Given the description of an element on the screen output the (x, y) to click on. 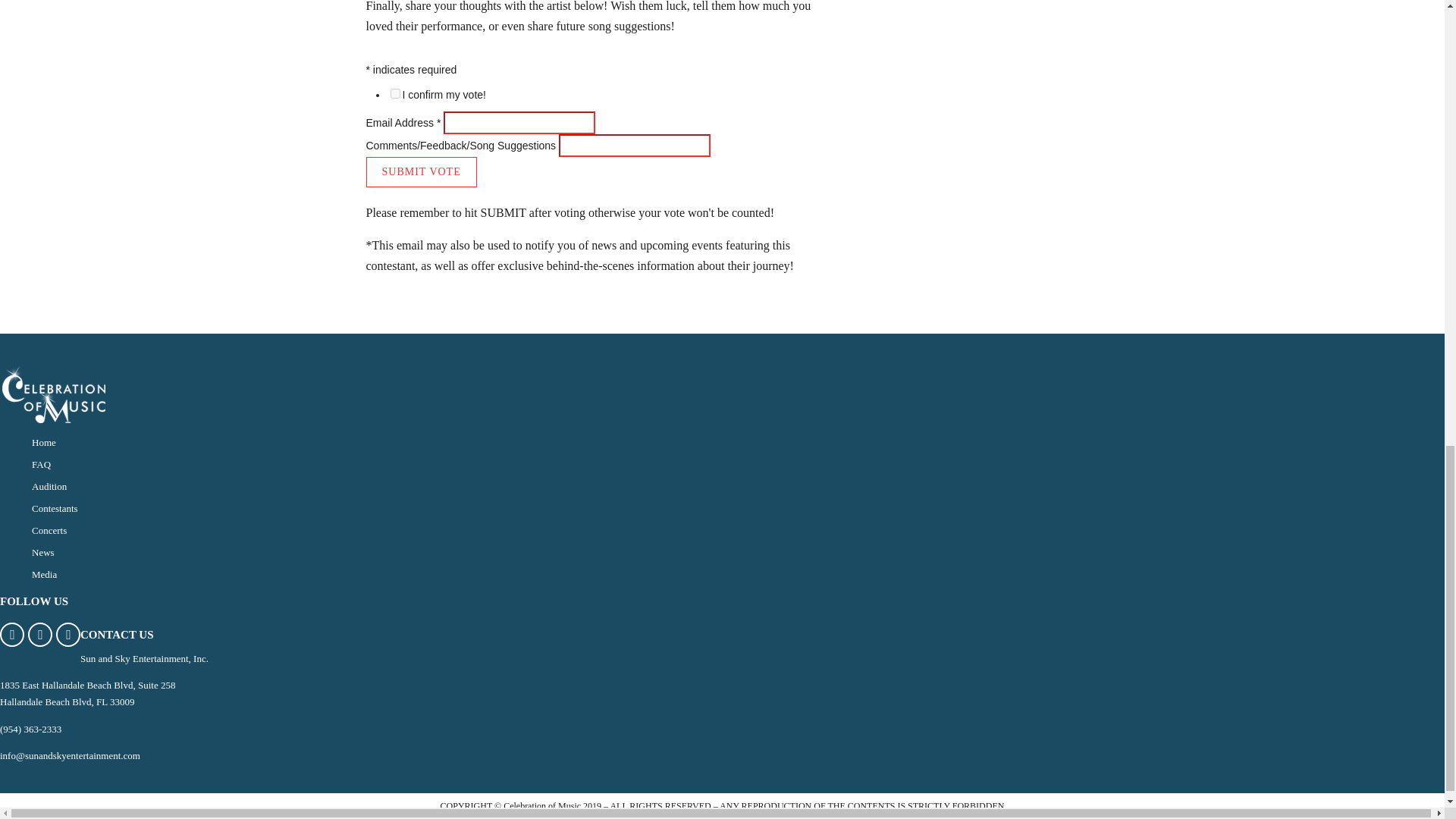
1 (394, 93)
Submit Vote (420, 172)
